Given the description of an element on the screen output the (x, y) to click on. 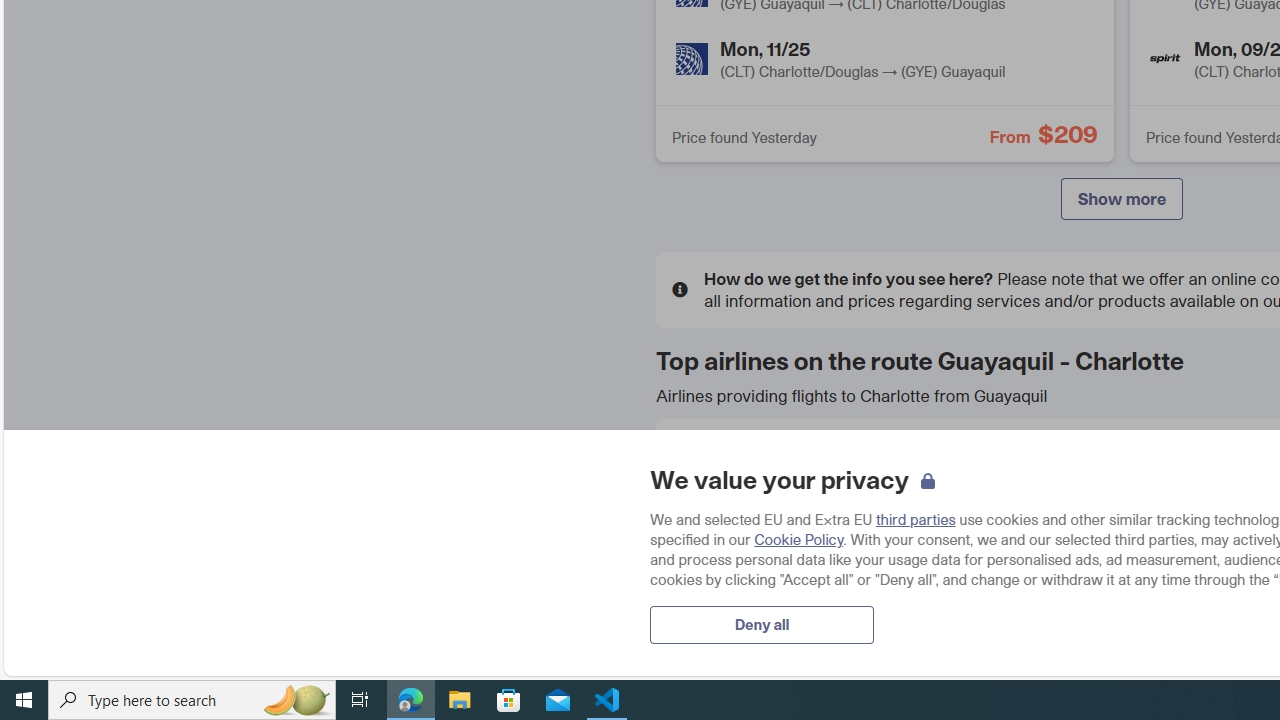
United United (818, 611)
Deny all (762, 624)
DELTA (703, 538)
Cookie Policy (798, 539)
American Airlines (703, 466)
United (703, 610)
Show more (1121, 198)
DELTA DELTA (818, 539)
American Airlines American Airlines (818, 467)
Avianca Avianca (1121, 467)
LATAM LATAM (1121, 539)
third parties (915, 519)
Avianca (1005, 466)
LATAM (1005, 538)
